Given the description of an element on the screen output the (x, y) to click on. 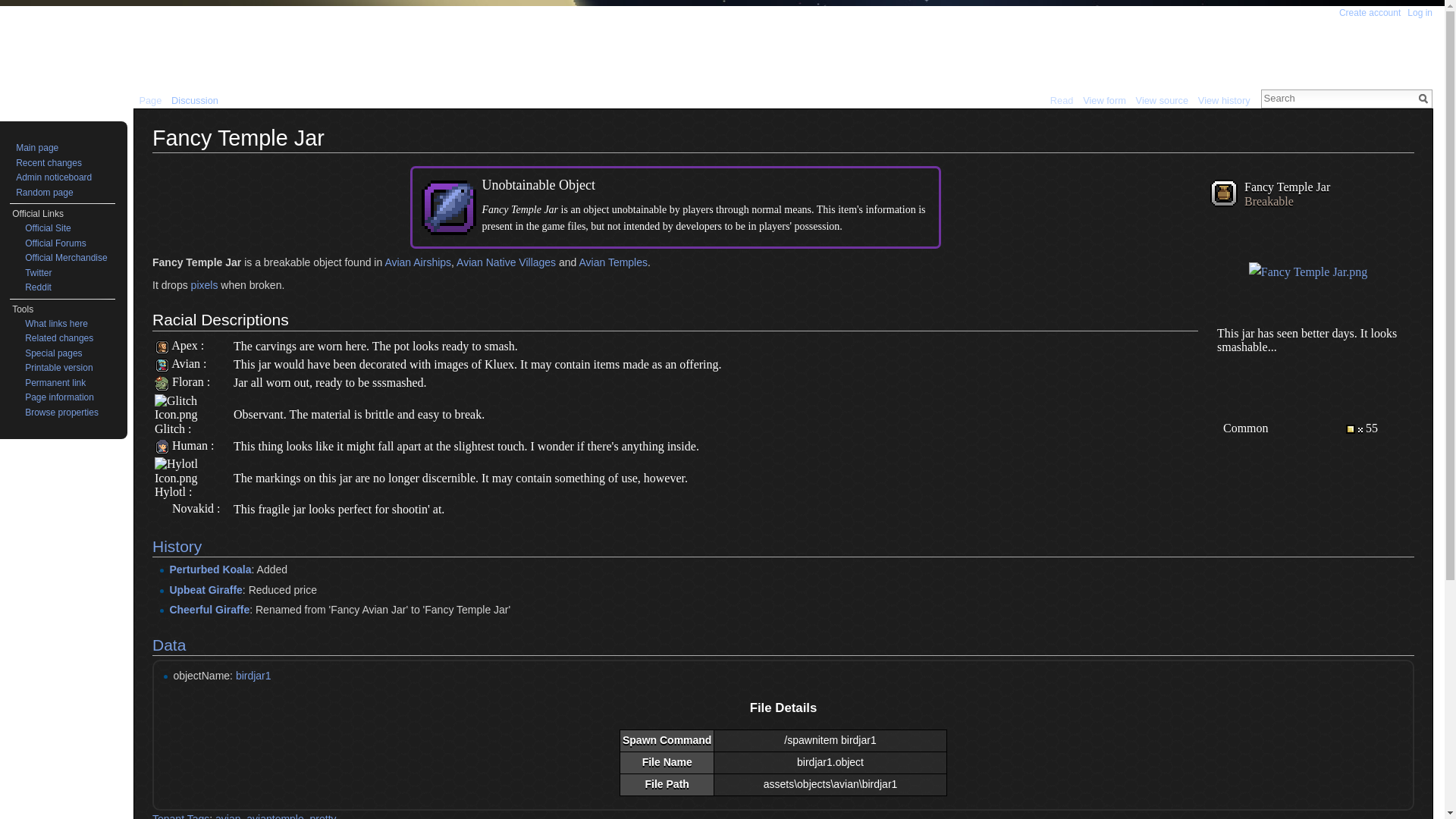
Upbeat Giraffe (204, 589)
Avian (161, 363)
Go (1423, 98)
Avian Airship (417, 262)
Category:Breakable (1269, 201)
Cheerful Giraffe (208, 609)
Human (189, 445)
Avian Airships (417, 262)
Perturbed Koala (209, 569)
aviantemple (275, 816)
Avian (185, 363)
Novakid (192, 508)
Search (1423, 98)
Apex (161, 345)
Tenant Tags (180, 816)
